Given the description of an element on the screen output the (x, y) to click on. 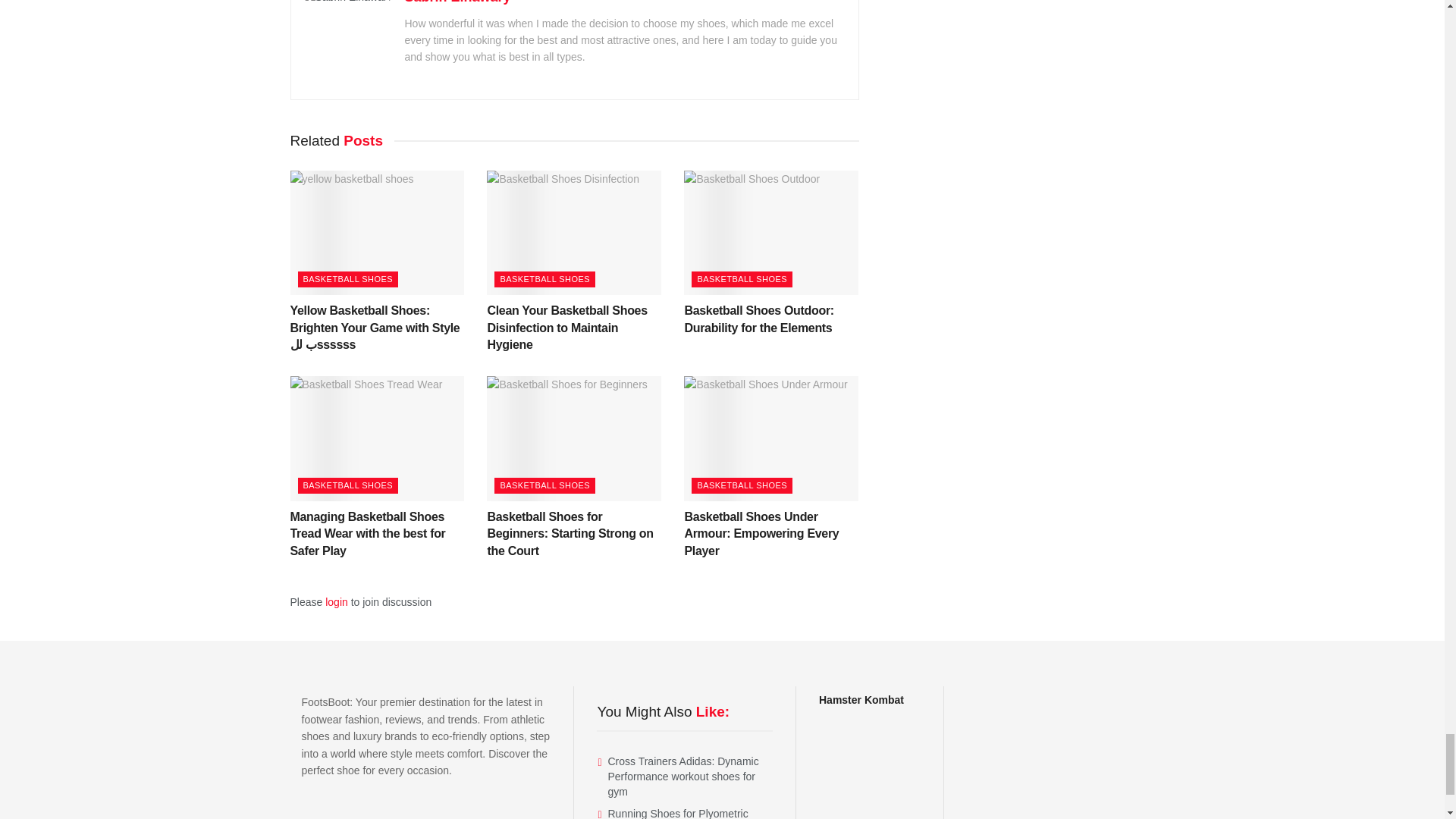
Basketball Shoes Outdoor: Durability for the Elements 9 (771, 232)
Basketball Shoes Under Armour: Empowering Every Player 12 (771, 437)
